Given the description of an element on the screen output the (x, y) to click on. 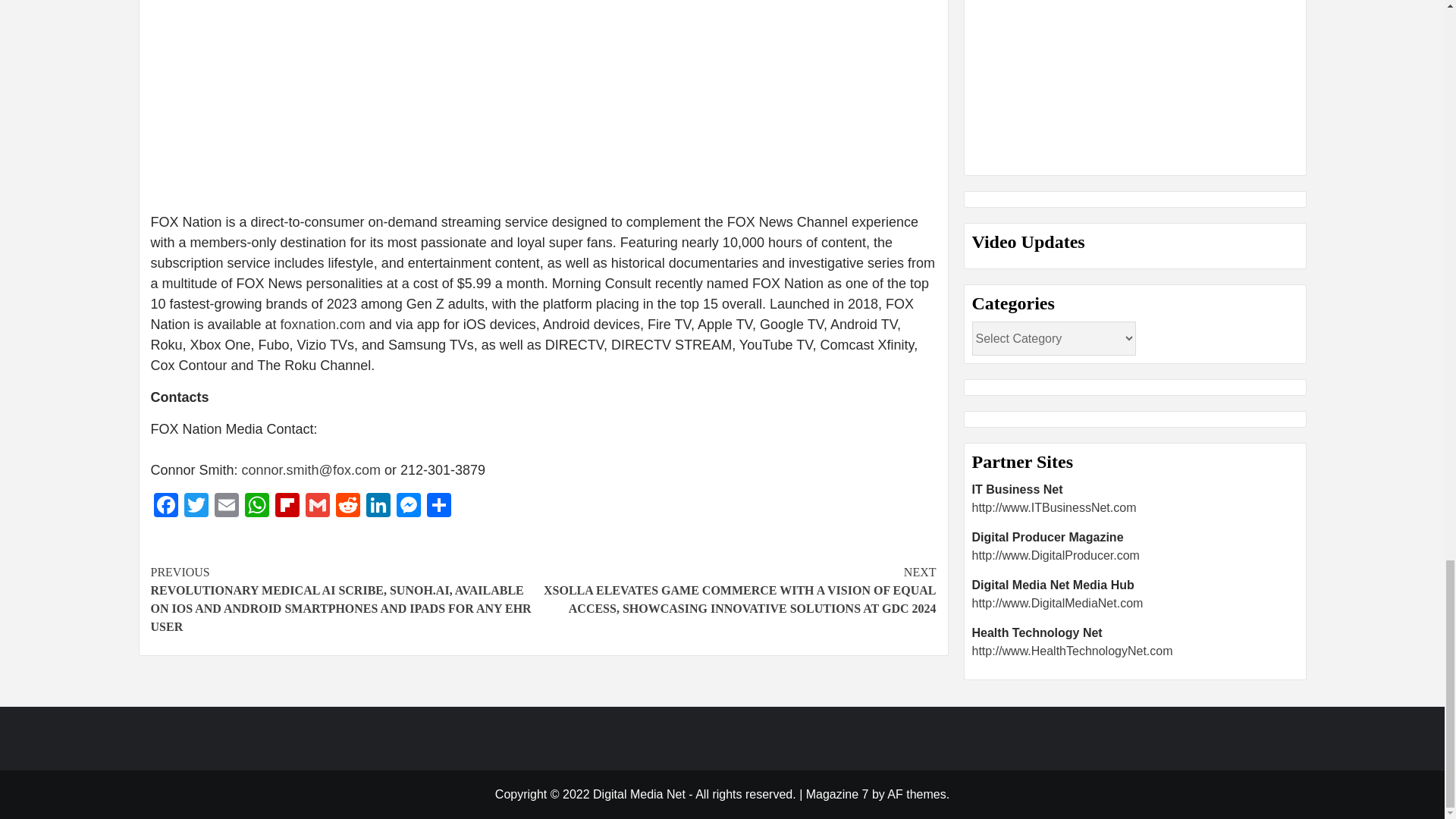
Facebook (164, 506)
Facebook (164, 506)
Flipboard (285, 506)
Email (226, 506)
Twitter (195, 506)
foxnation.com (323, 324)
WhatsApp (255, 506)
